Given the description of an element on the screen output the (x, y) to click on. 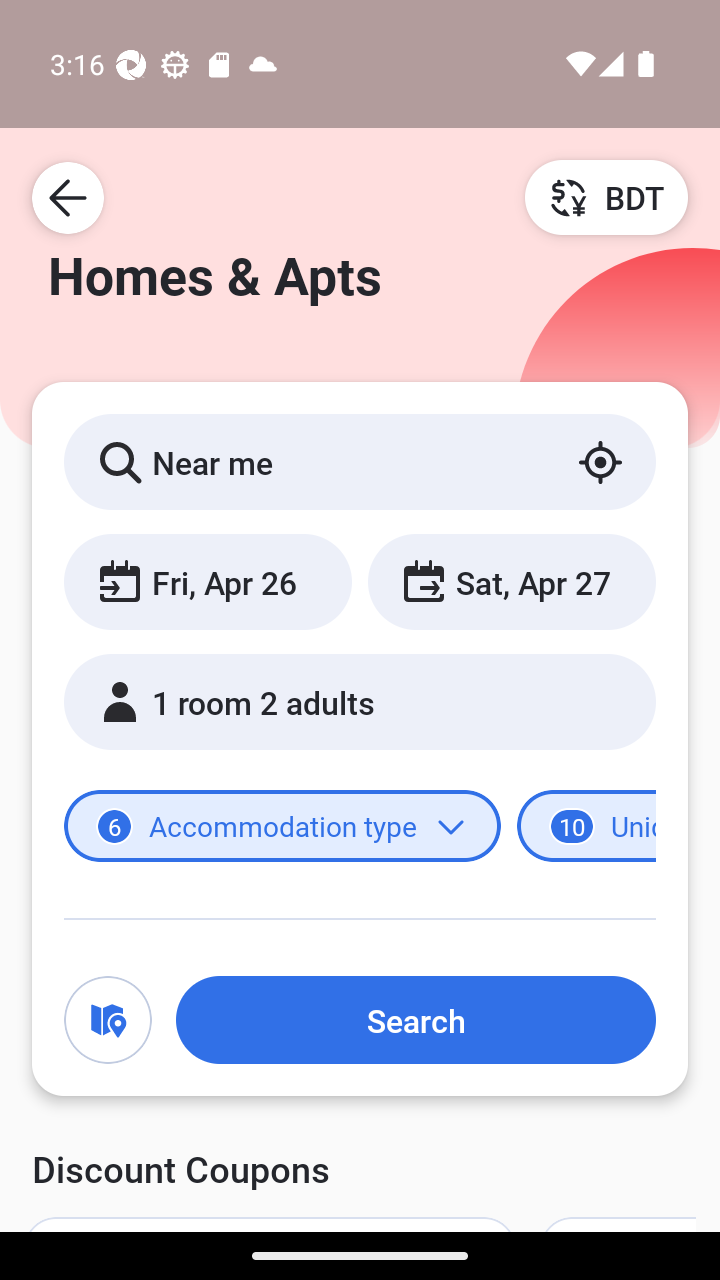
BDT (606, 197)
Near me (359, 461)
Fri, Apr 26 (208, 581)
Sat, Apr 27 (511, 581)
1 room 2 adults (359, 702)
6 Accommodation type (282, 825)
Search (415, 1019)
